Given the description of an element on the screen output the (x, y) to click on. 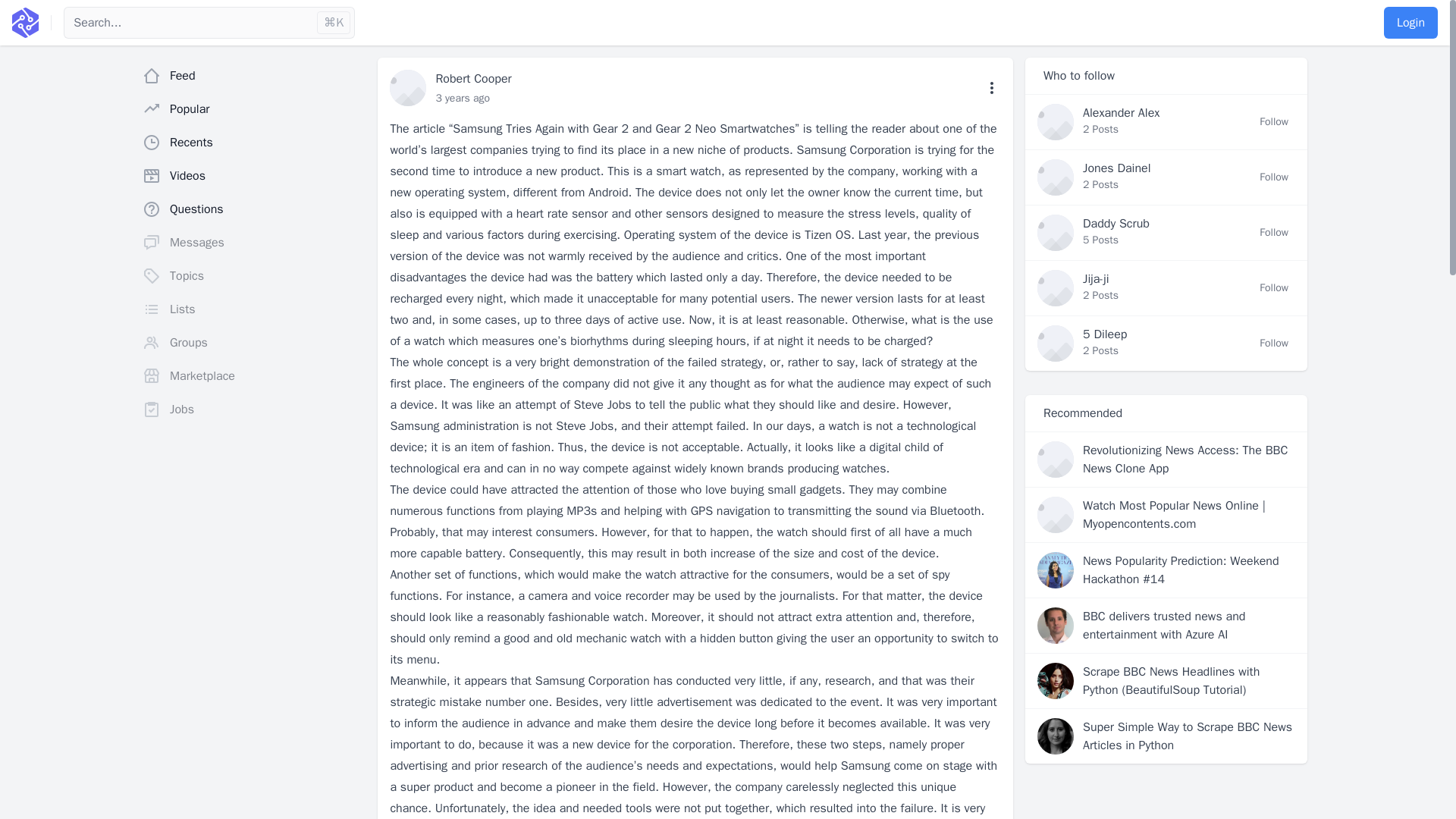
Feed (253, 75)
Revolutionizing News Access: The BBC News Clone App (1189, 459)
Follow (1273, 343)
Robert Cooper (473, 78)
Popular (253, 109)
Follow (1273, 287)
Questions (253, 209)
Videos (253, 175)
Follow (1273, 121)
Daddy Scrub (1116, 223)
Open options (991, 87)
Recents (253, 142)
3 years ago (462, 97)
5 Dileep (1104, 334)
Login (1411, 22)
